Given the description of an element on the screen output the (x, y) to click on. 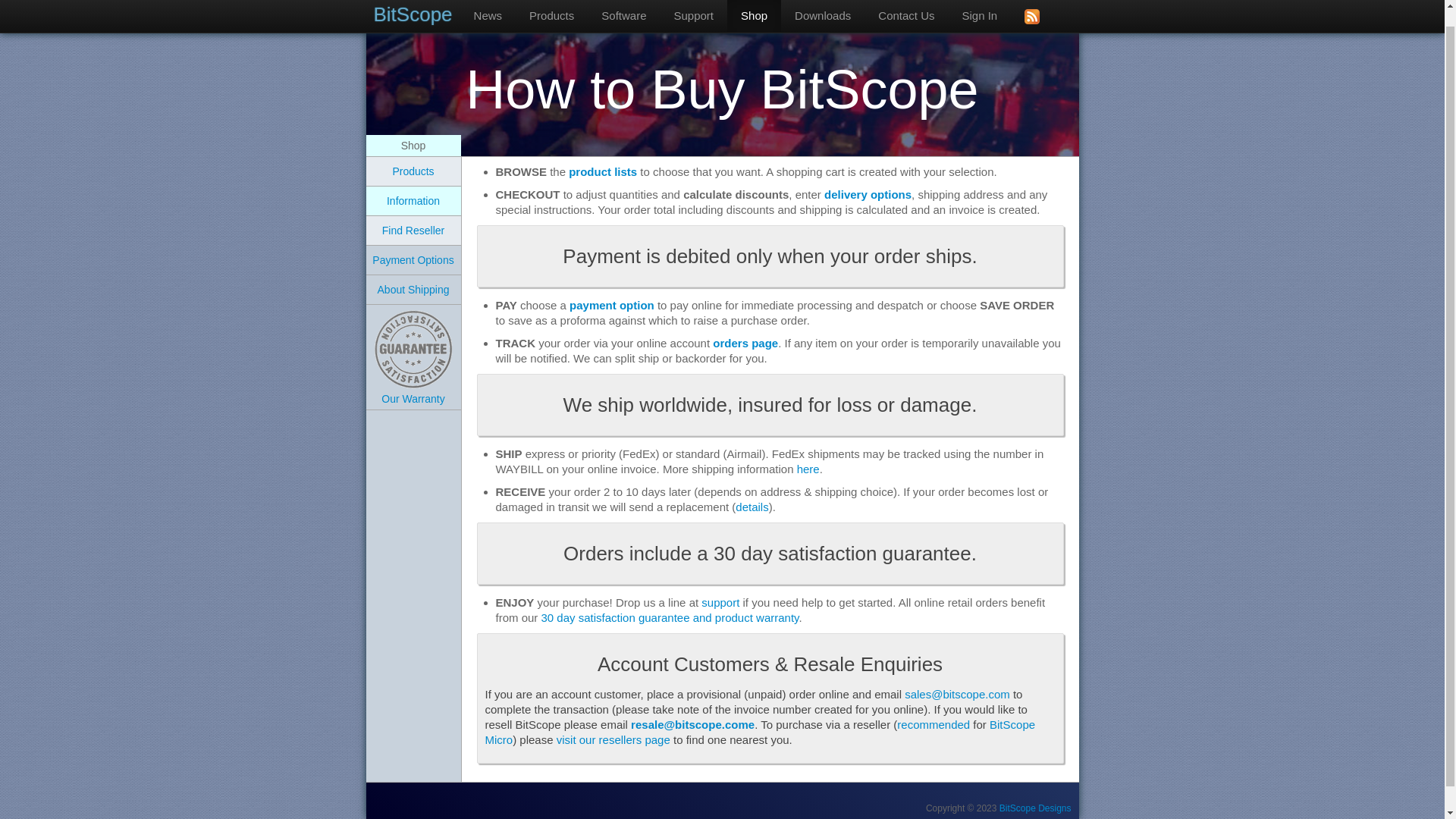
Contact Us (905, 7)
BitScope RSS Feed (1031, 7)
Learn how to buy BitScope. (413, 200)
payment option (611, 305)
Software (623, 7)
How to contact us. (905, 7)
BitScope Blogs. (488, 7)
details (751, 506)
Browse products and buy direct online. (412, 171)
Sign In (980, 7)
Products (551, 7)
Products (412, 171)
BitScope Downloads. (822, 7)
Information (413, 200)
BitScope Online Store. (753, 7)
